Given the description of an element on the screen output the (x, y) to click on. 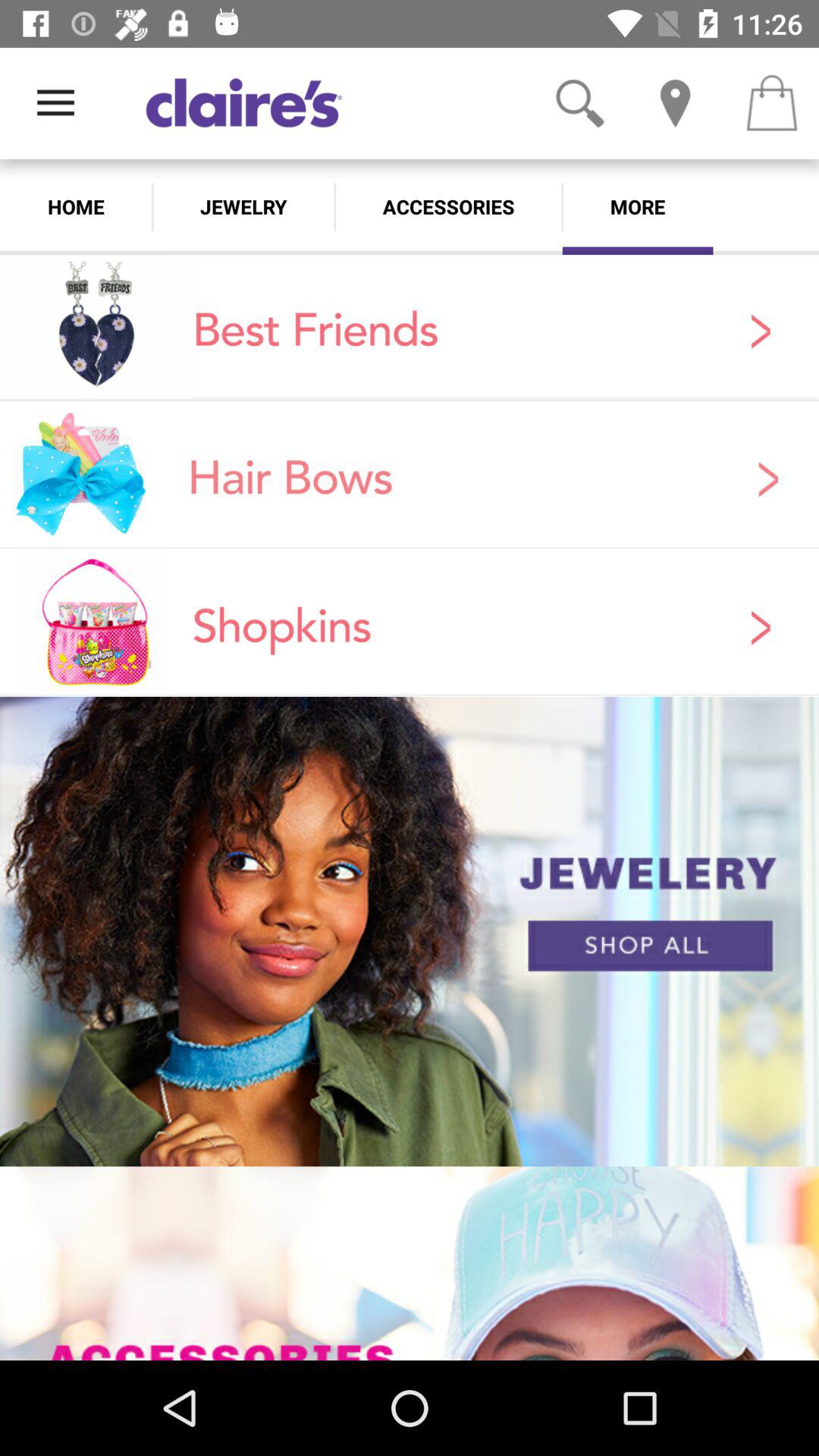
scroll to home (76, 206)
